Given the description of an element on the screen output the (x, y) to click on. 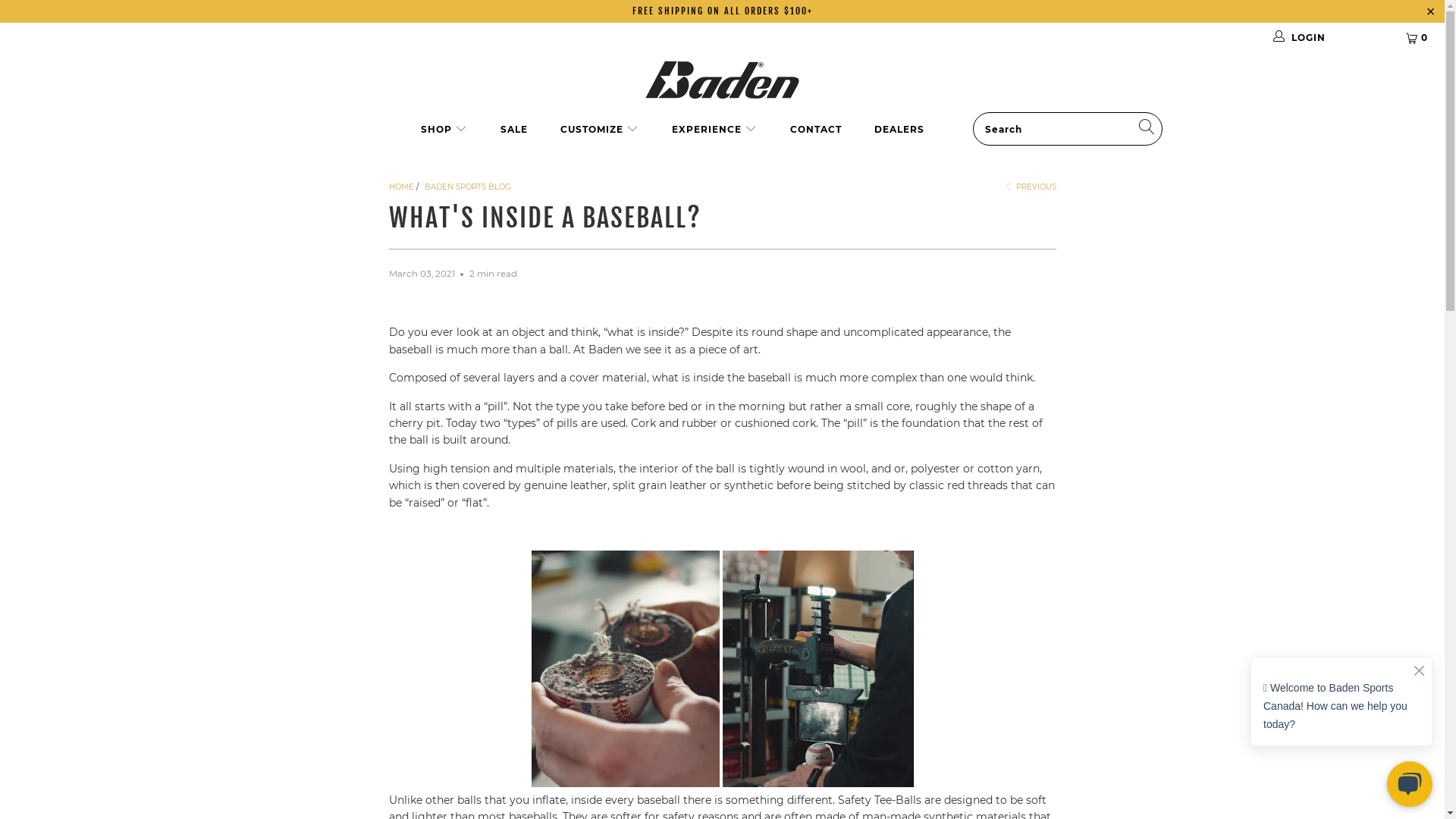
CONTACT Element type: text (815, 129)
0 Element type: text (1417, 37)
Baden Sports Canada Element type: hover (722, 79)
DEALERS Element type: text (899, 129)
BADEN SPORTS BLOG Element type: text (467, 186)
HOME Element type: text (400, 186)
EXPERIENCE Element type: text (713, 129)
PREVIOUS Element type: text (1029, 186)
SALE Element type: text (513, 129)
SHOP Element type: text (443, 129)
LOGIN Element type: text (1328, 37)
CUSTOMIZE Element type: text (599, 129)
